Given the description of an element on the screen output the (x, y) to click on. 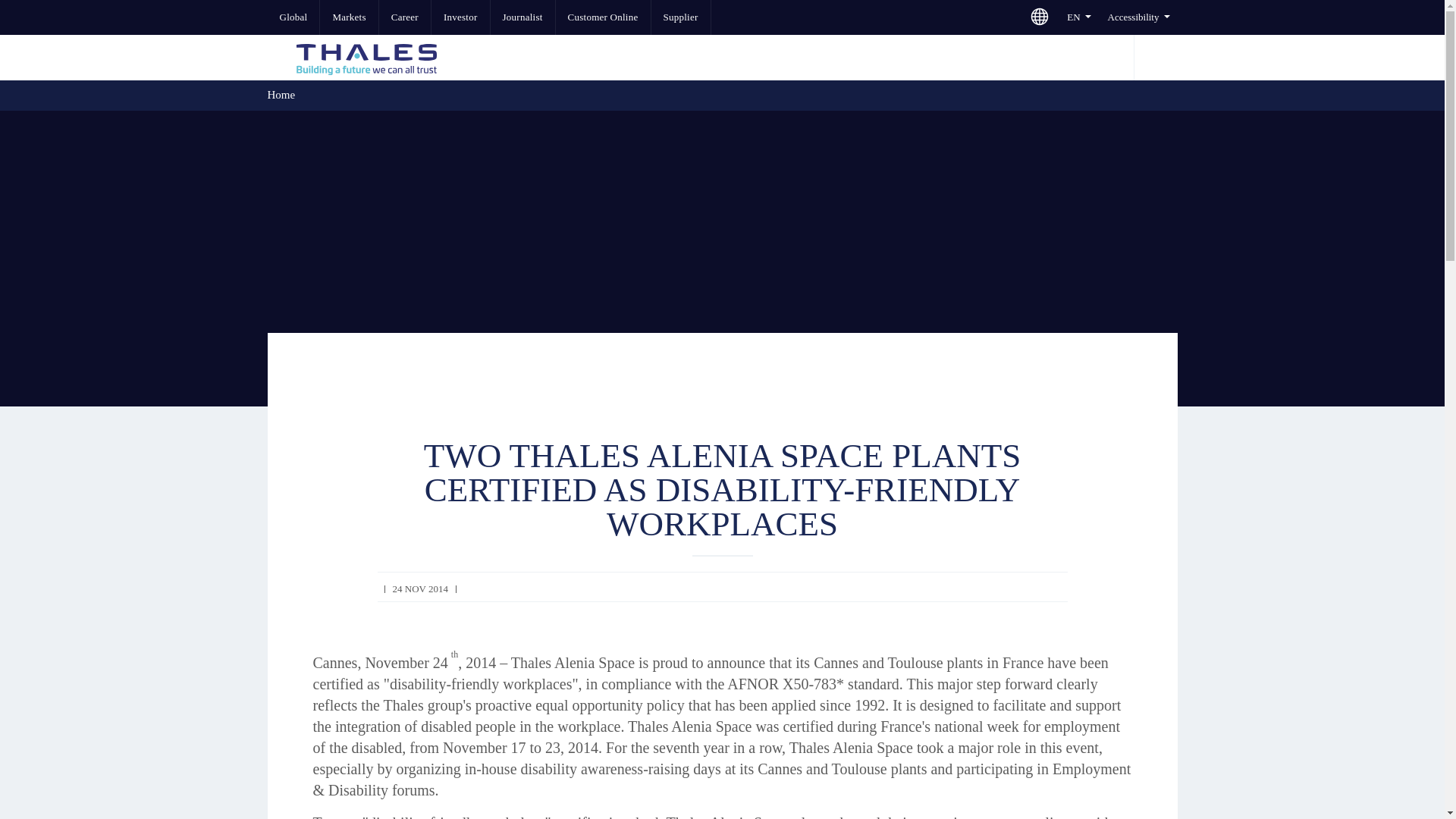
Search (1154, 57)
Investor (459, 17)
Accessibility (1138, 17)
Career (404, 17)
Supplier (680, 17)
Journalist (521, 17)
Home (280, 94)
Markets (348, 17)
Customer Online (603, 17)
Global (292, 17)
